Given the description of an element on the screen output the (x, y) to click on. 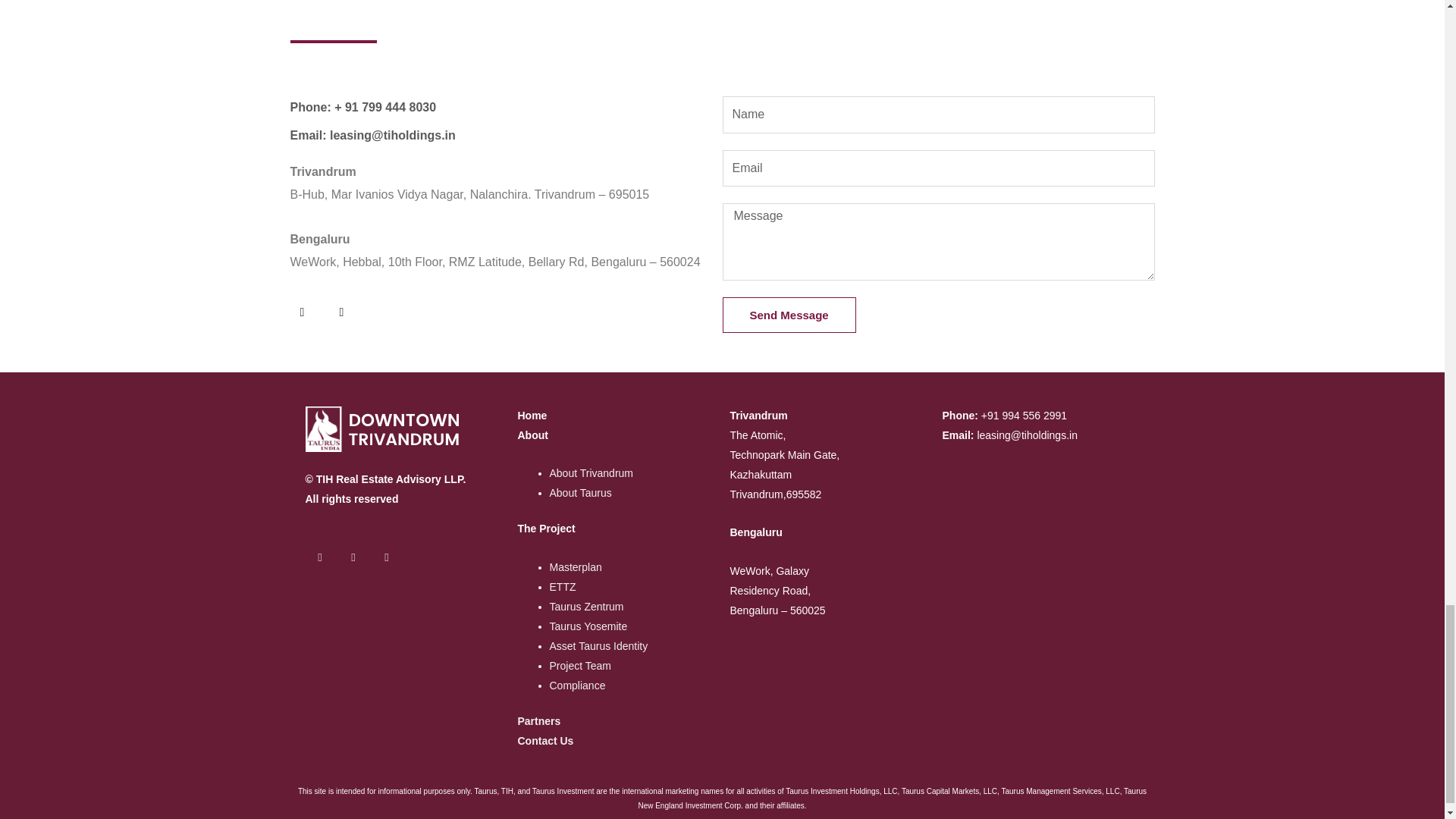
Compliance (576, 685)
Taurus Yosemite (587, 625)
Taurus Zentrum (585, 606)
Contact Us (544, 740)
ETTZ (561, 586)
Project Team (579, 665)
Masterplan (574, 567)
Asset Taurus Identity (597, 645)
Send Message (789, 314)
About Taurus (579, 492)
